Given the description of an element on the screen output the (x, y) to click on. 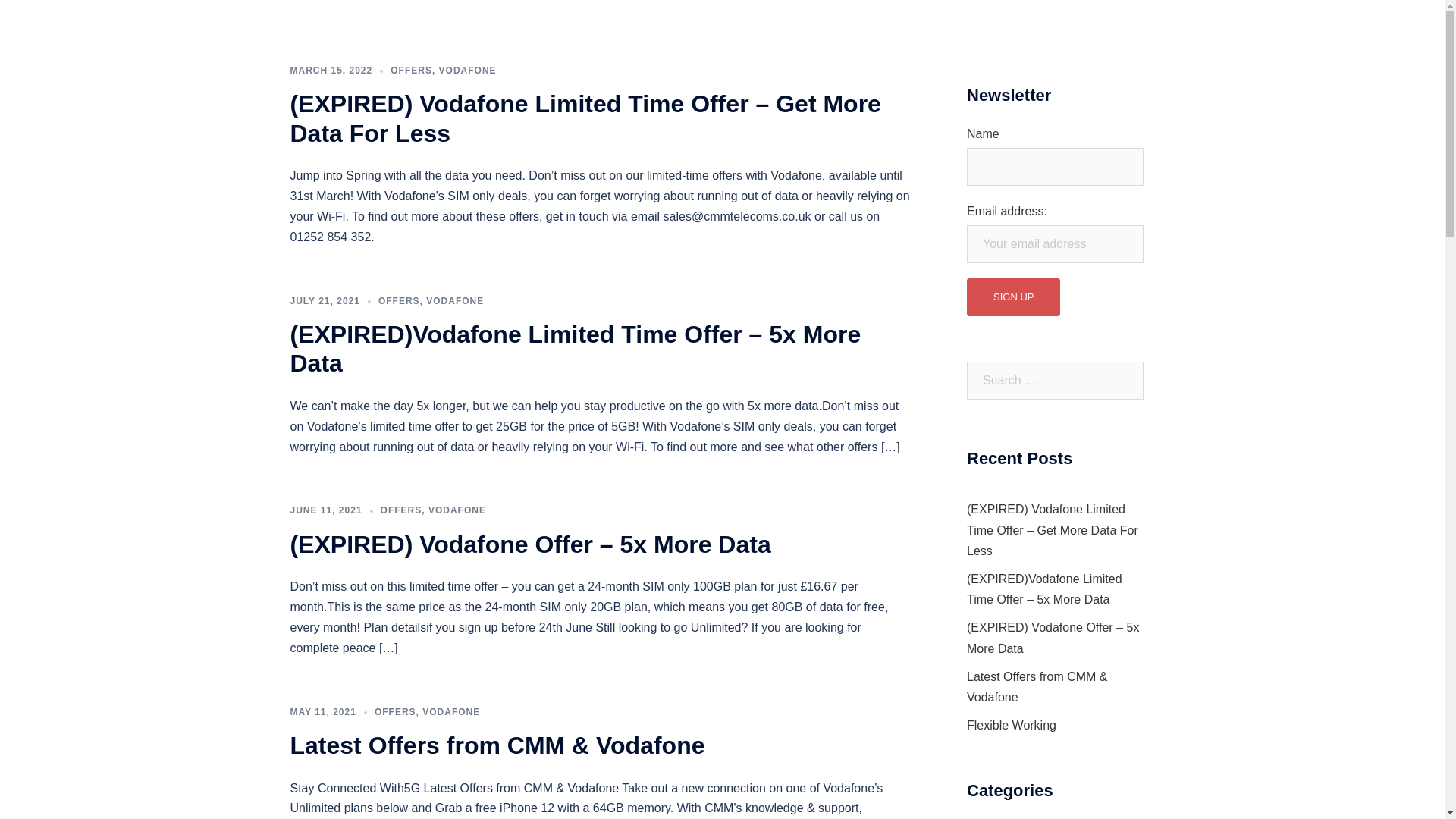
Portal login (1116, 53)
Sign up (1012, 297)
OFFERS (411, 70)
JULY 21, 2021 (324, 300)
OFFERS (395, 711)
MAY 11, 2021 (322, 711)
MARCH 15, 2022 (330, 70)
Home (740, 53)
Resources (1044, 53)
VODAFONE (457, 510)
